Given the description of an element on the screen output the (x, y) to click on. 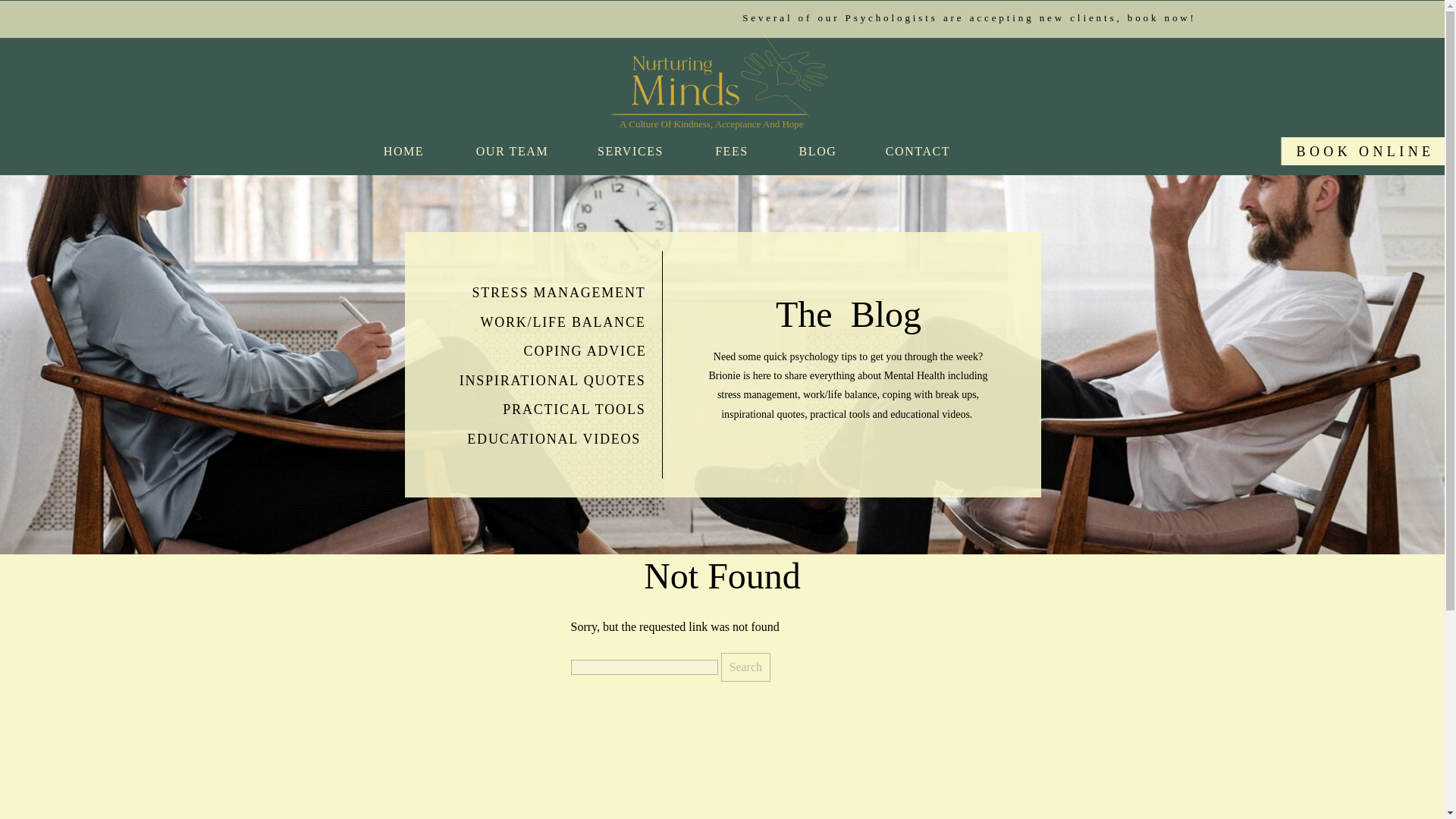
SERVICES (630, 154)
BLOG (817, 154)
BOOK ONLINE (1364, 150)
OUR TEAM (511, 154)
Search (745, 666)
Search (745, 666)
CONTACT (917, 154)
FEES (731, 154)
HOME (403, 154)
